Given the description of an element on the screen output the (x, y) to click on. 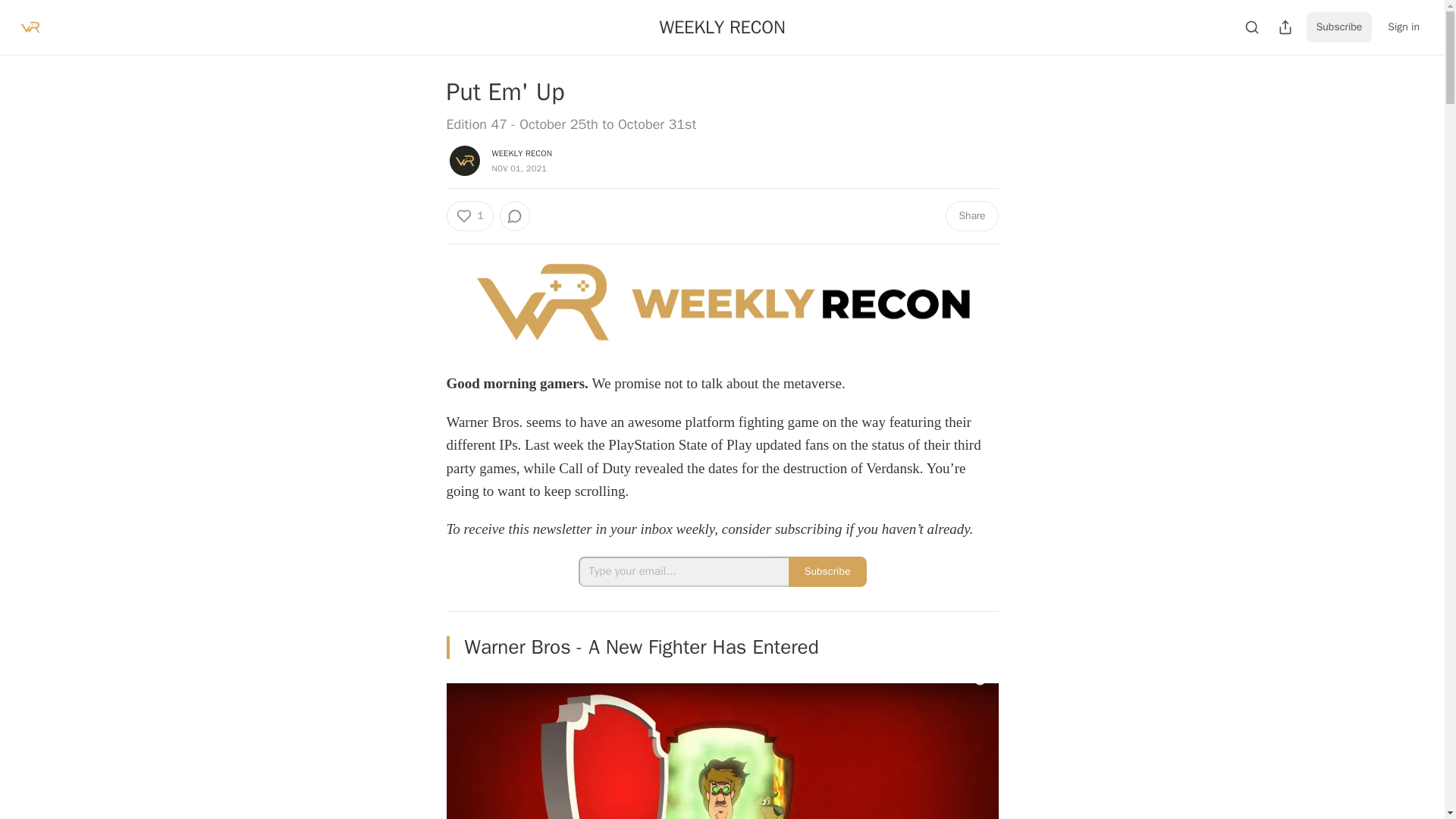
Subscribe (827, 571)
WEEKLY RECON (721, 26)
Sign in (1403, 27)
WEEKLY RECON (521, 153)
Share (970, 215)
Subscribe (1339, 27)
1 (469, 215)
